Given the description of an element on the screen output the (x, y) to click on. 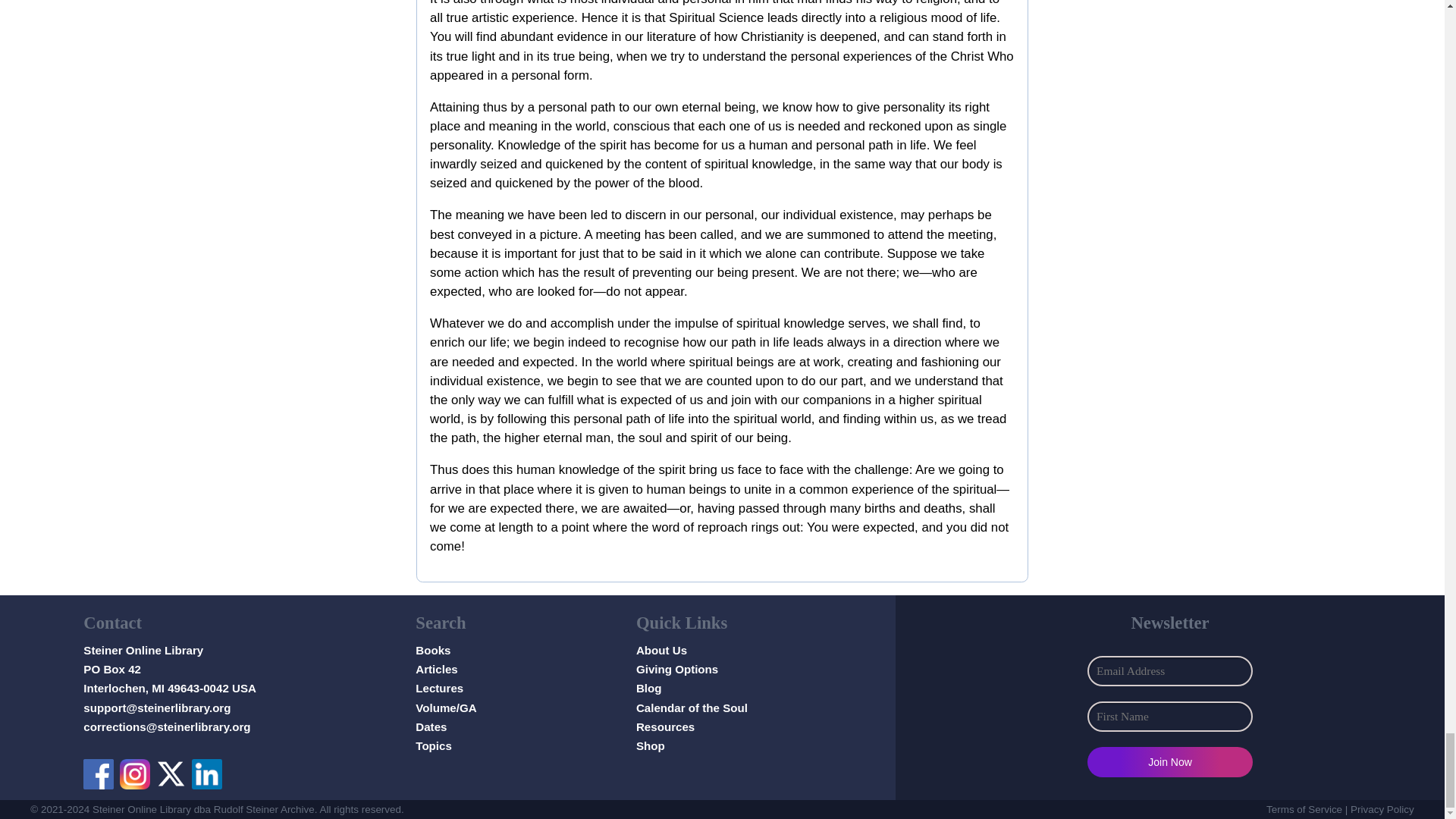
Join Now (1169, 761)
